Given the description of an element on the screen output the (x, y) to click on. 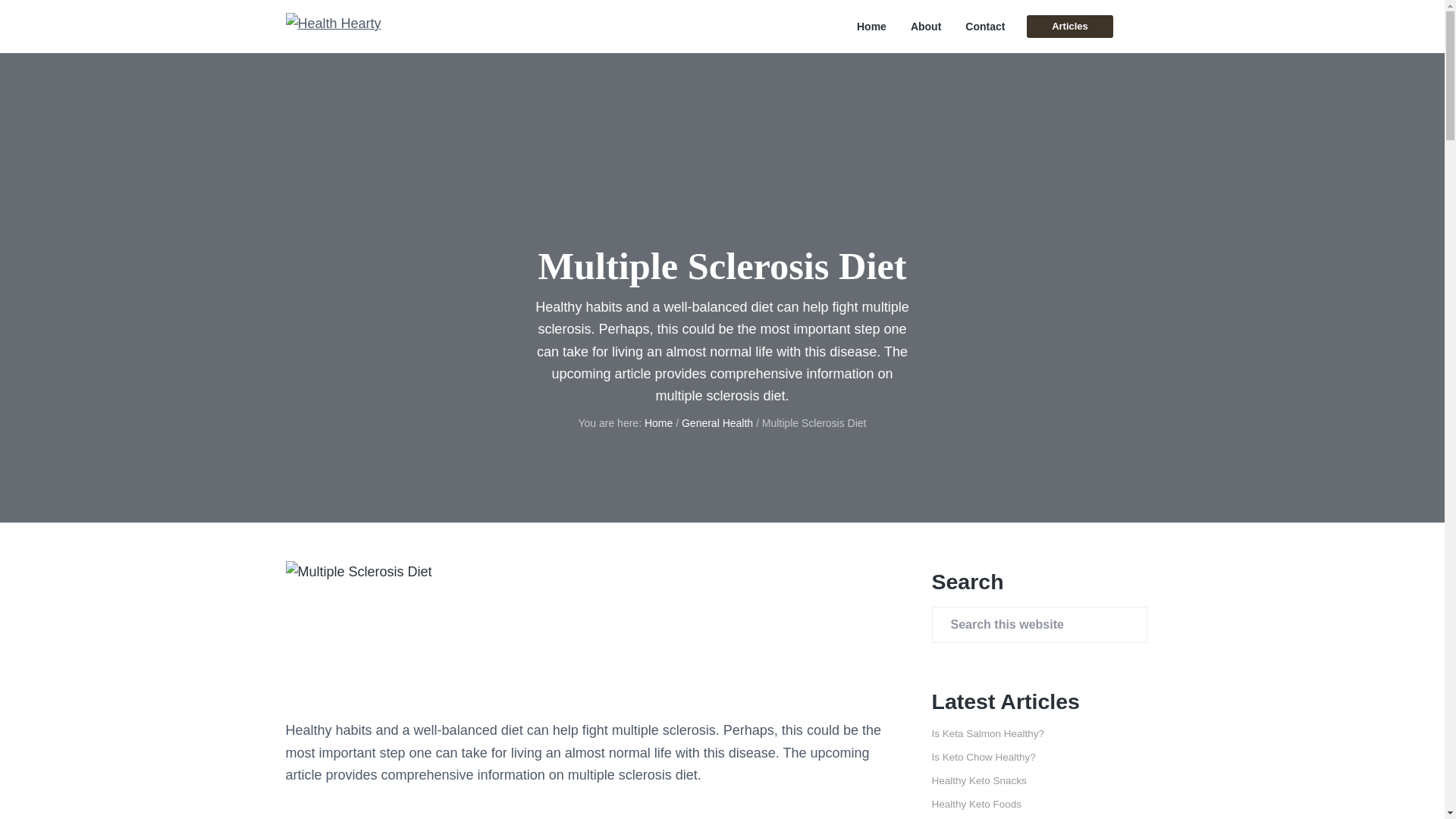
Is Keta Salmon Healthy? (987, 733)
Home (871, 27)
Healthy Keto Snacks (978, 780)
Search (60, 18)
About (925, 27)
General Health (716, 422)
Articles (1068, 25)
Home (658, 422)
Contact (984, 27)
Is Keto Chow Healthy? (983, 756)
Healthy Keto Foods (976, 803)
